Given the description of an element on the screen output the (x, y) to click on. 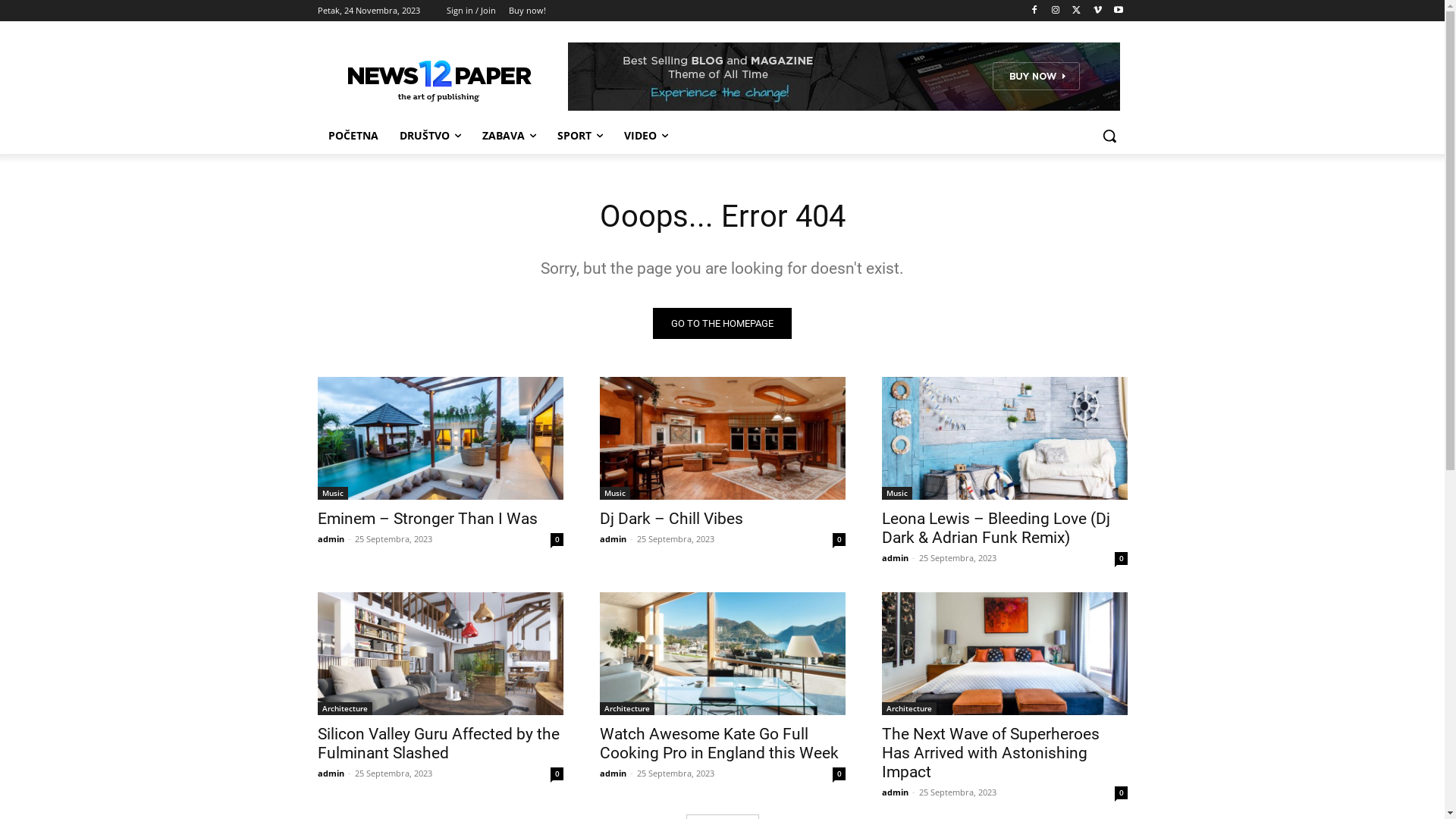
Sign in / Join Element type: text (470, 10)
admin Element type: text (894, 557)
Watch Awesome Kate Go Full Cooking Pro in England this Week Element type: text (718, 743)
ZABAVA Element type: text (508, 135)
admin Element type: text (612, 538)
0 Element type: text (838, 539)
0 Element type: text (838, 773)
Buy now! Element type: text (526, 10)
Youtube Element type: hover (1118, 9)
SPORT Element type: text (579, 135)
VIDEO Element type: text (644, 135)
Twitter Element type: hover (1076, 9)
GO TO THE HOMEPAGE Element type: text (721, 322)
Silicon Valley Guru Affected by the Fulminant Slashed Element type: text (437, 743)
Instagram Element type: hover (1054, 9)
Architecture Element type: text (626, 708)
Music Element type: text (331, 492)
Music Element type: text (614, 492)
admin Element type: text (612, 772)
admin Element type: text (329, 772)
Architecture Element type: text (908, 708)
admin Element type: text (894, 791)
0 Element type: text (556, 773)
Vimeo Element type: hover (1097, 9)
Silicon Valley Guru Affected by the Fulminant Slashed Element type: hover (439, 653)
0 Element type: text (556, 539)
Facebook Element type: hover (1034, 9)
Watch Awesome Kate Go Full Cooking Pro in England this Week Element type: hover (721, 653)
0 Element type: text (1120, 558)
admin Element type: text (329, 538)
0 Element type: text (1120, 792)
Architecture Element type: text (343, 708)
Music Element type: text (896, 492)
